Given the description of an element on the screen output the (x, y) to click on. 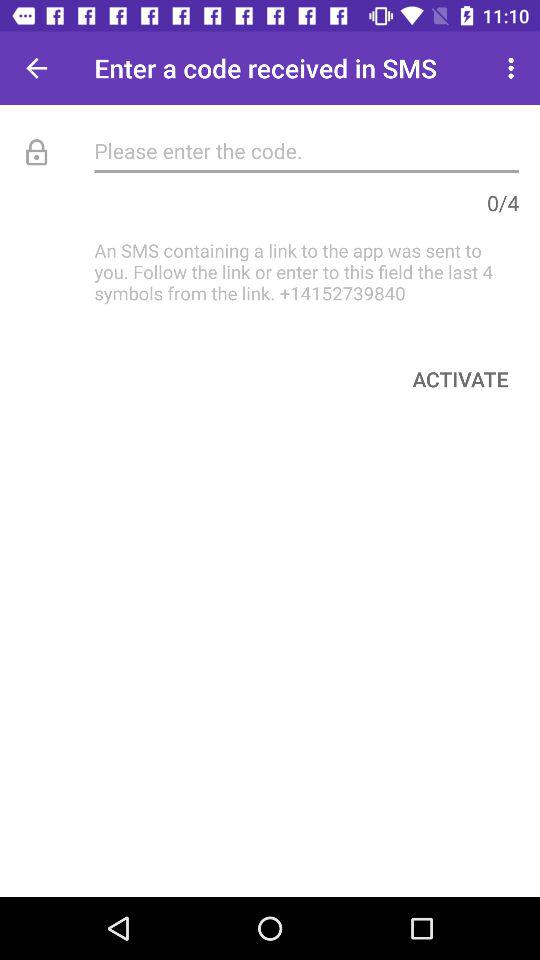
go back (36, 68)
